Given the description of an element on the screen output the (x, y) to click on. 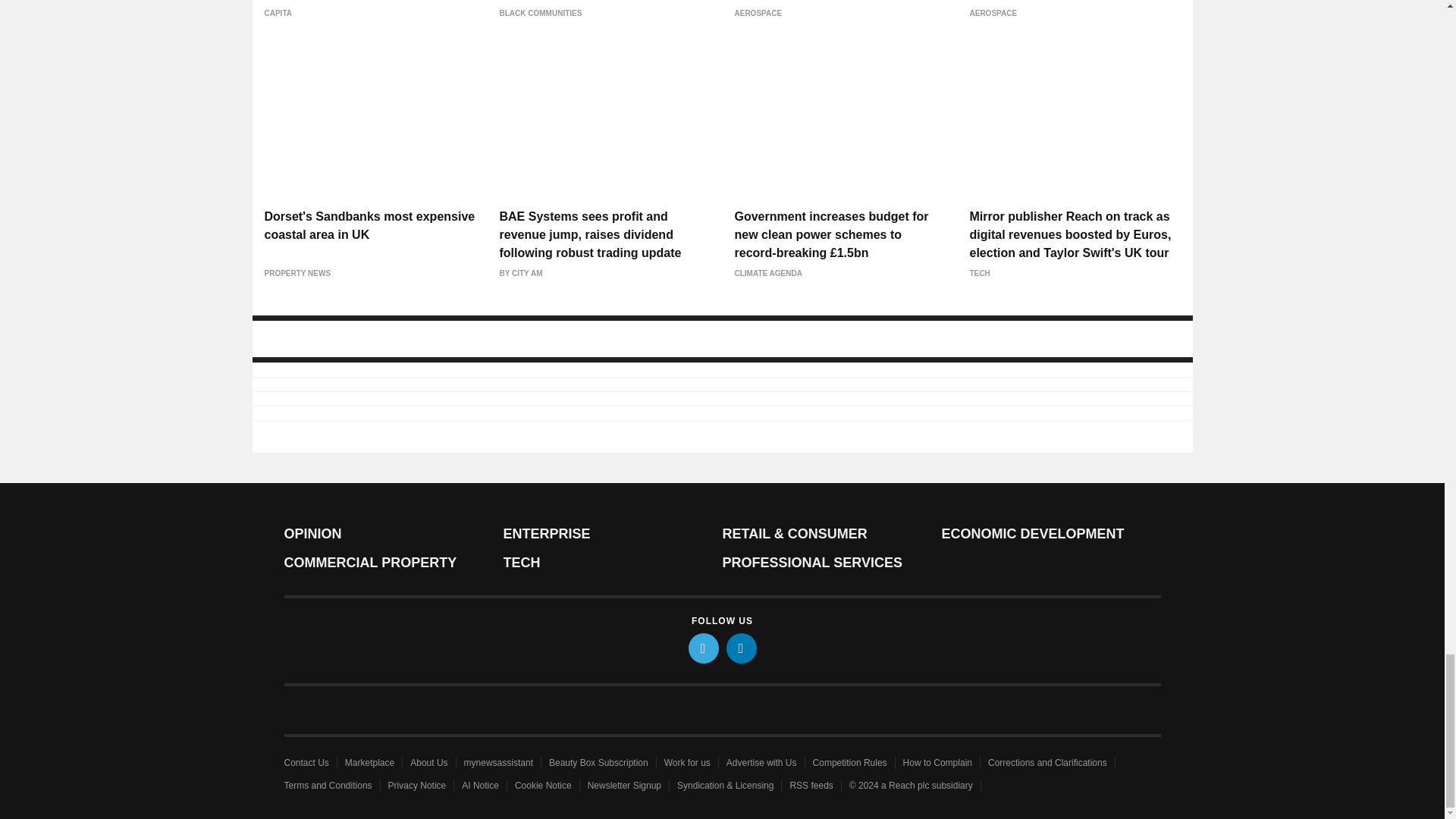
linkedin (741, 648)
twitter (703, 648)
